Given the description of an element on the screen output the (x, y) to click on. 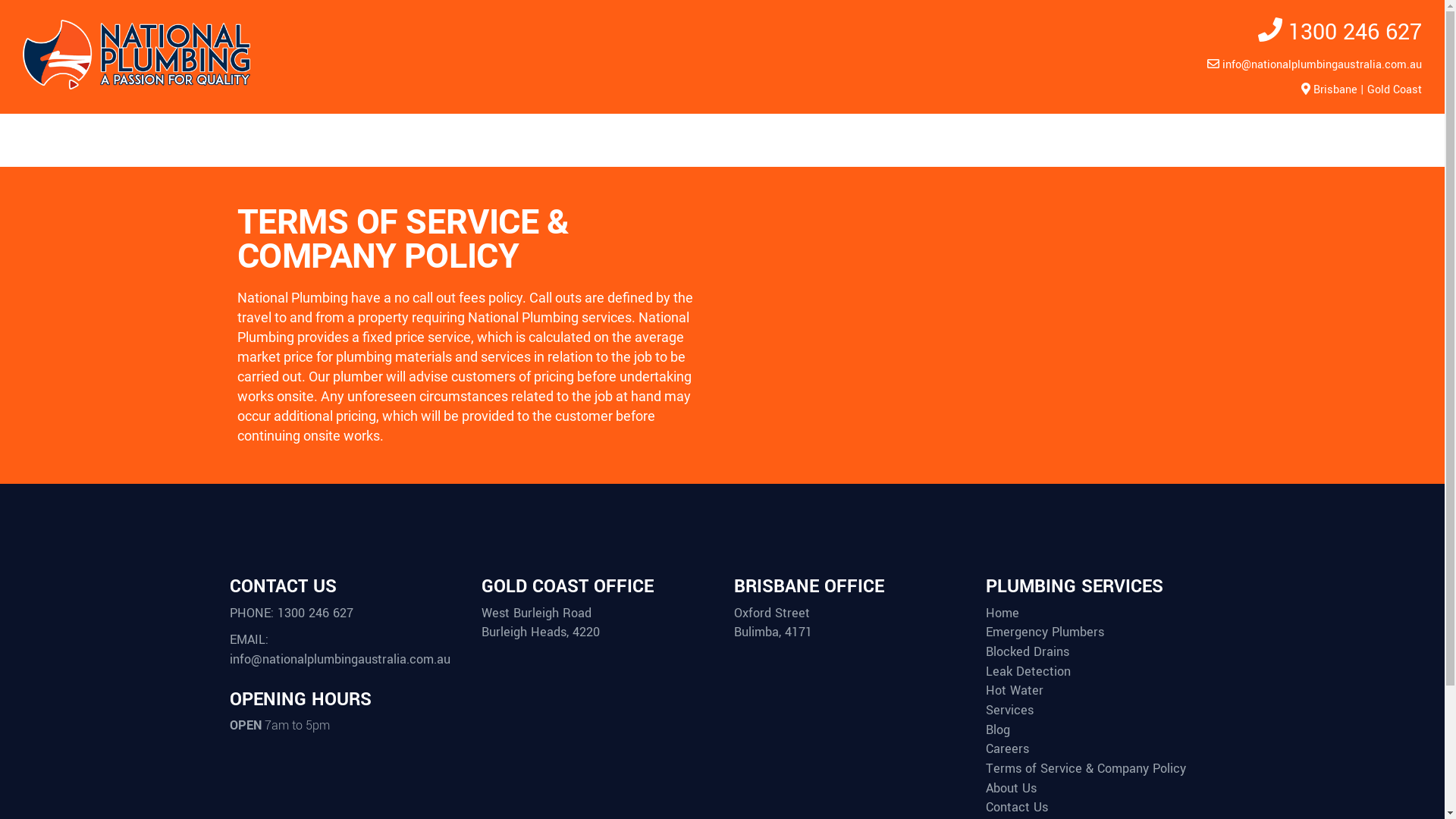
Careers Element type: text (1012, 748)
Leak Detection Element type: text (1033, 671)
Emergency Plumbers Element type: text (1050, 632)
info@nationalplumbingaustralia.com.au Element type: text (1321, 64)
info@nationalplumbingaustralia.com.au Element type: text (339, 659)
Services Element type: text (1014, 710)
Hot Water Element type: text (1019, 690)
Blocked Drains Element type: text (1032, 651)
Terms of Service & Company Policy Element type: text (1091, 768)
Gold Coast Element type: text (1394, 89)
Brisbane Element type: text (1335, 89)
1300 246 627 Element type: text (1351, 31)
National Plumbing Element type: hover (136, 86)
Home Element type: text (1007, 613)
About Us Element type: text (1016, 788)
Blog Element type: text (1003, 729)
Contact Us Element type: text (1022, 807)
